Given the description of an element on the screen output the (x, y) to click on. 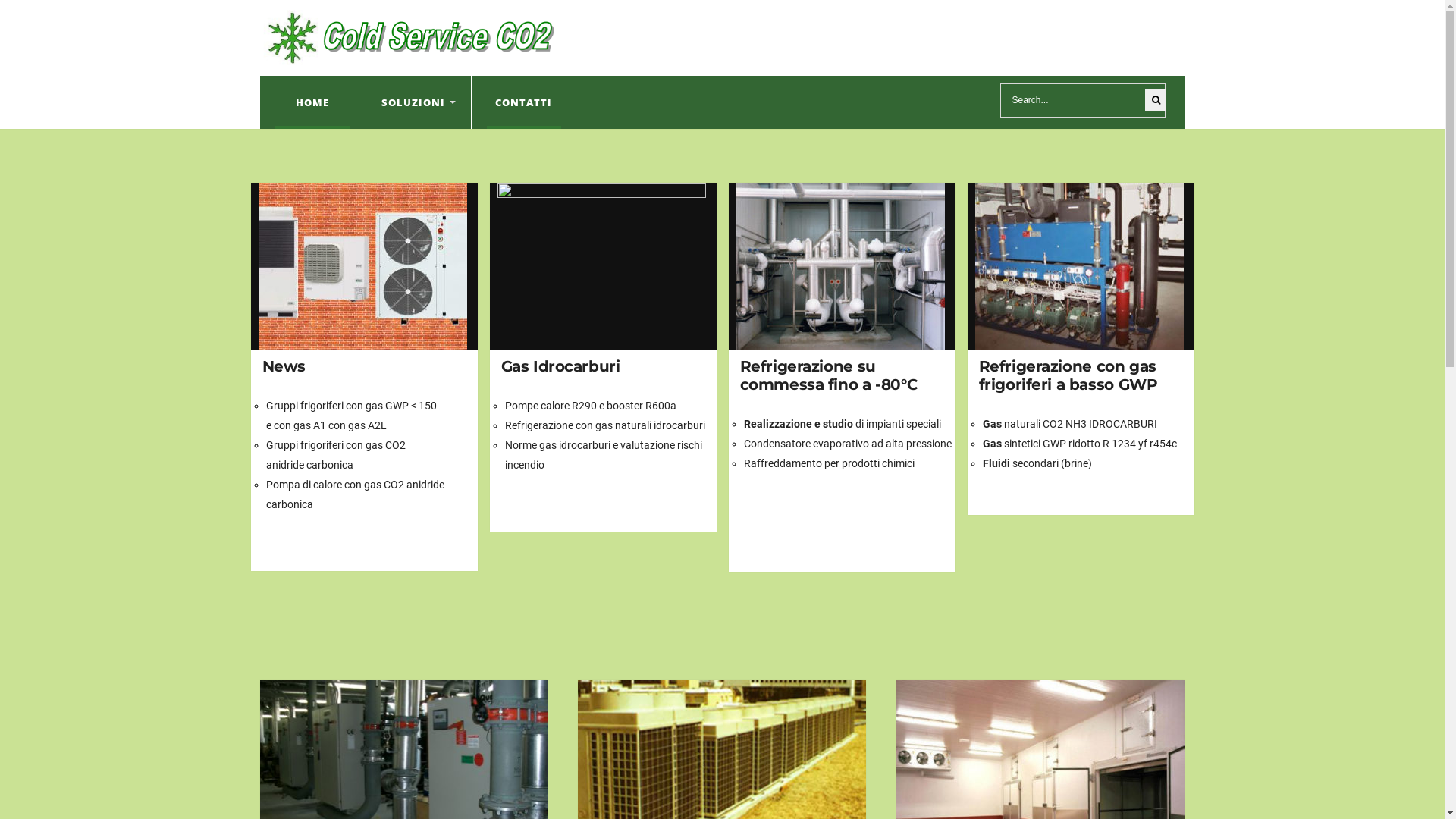
Raffreddamento per prodotti chimici Element type: text (828, 463)
Fluidi secondari (brine) Element type: text (1037, 463)
CONTATTI Element type: text (523, 101)
News Element type: text (283, 366)
HOME Element type: text (311, 101)
Norme gas idrocarburi e valutazione rischi incendio Element type: text (603, 454)
News Element type: hover (366, 265)
Gas Idrocarburi Element type: hover (606, 265)
Pompe calore R290 e booster R600a Element type: text (590, 405)
Refrigerazione con gas naturali idrocarburi Element type: text (605, 425)
Realizzazione e studio di impianti speciali Element type: text (841, 423)
Gruppi frigoriferi con gas CO2
anidride carbonica Element type: text (334, 454)
Gas naturali CO2 NH3 IDROCARBURI Element type: text (1069, 423)
Refrigerazione con gas frigoriferi a basso GWP Element type: text (1067, 375)
Refrigerazione con gas frigoriferi a basso GWP Element type: hover (1084, 265)
Gas sintetici GWP ridotto R 1234 yf r454c Element type: text (1079, 443)
Pompa di calore con gas CO2 anidride carbonica Element type: text (354, 494)
Condensatore evaporativo ad alta pressione Element type: text (846, 443)
Gas Idrocarburi Element type: text (559, 366)
SOLUZIONI Element type: text (418, 101)
